Given the description of an element on the screen output the (x, y) to click on. 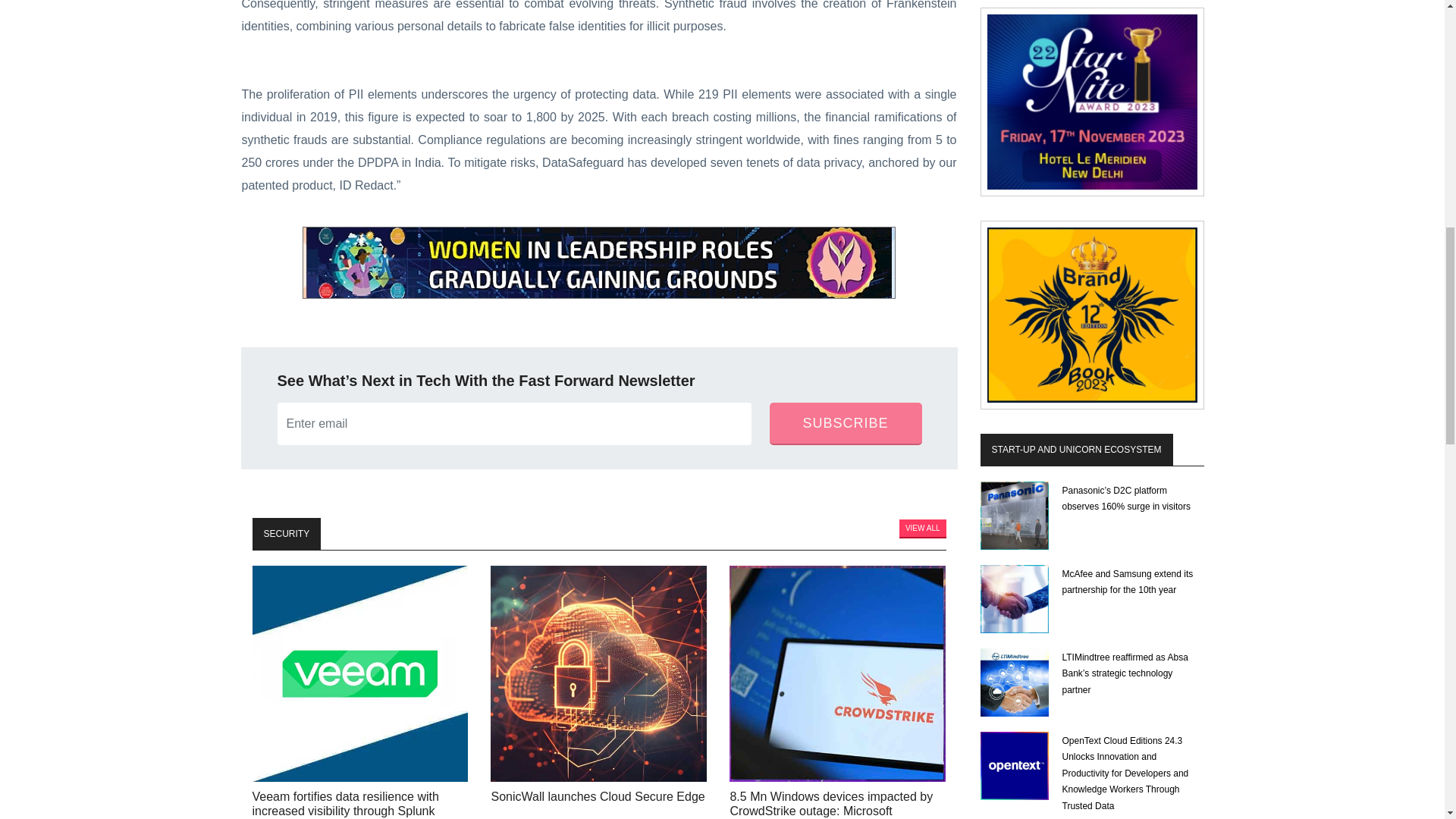
McAfee and Samsung extend its partnership for the 10th year (1013, 599)
SonicWall launches Cloud Secure Edge (598, 673)
